Given the description of an element on the screen output the (x, y) to click on. 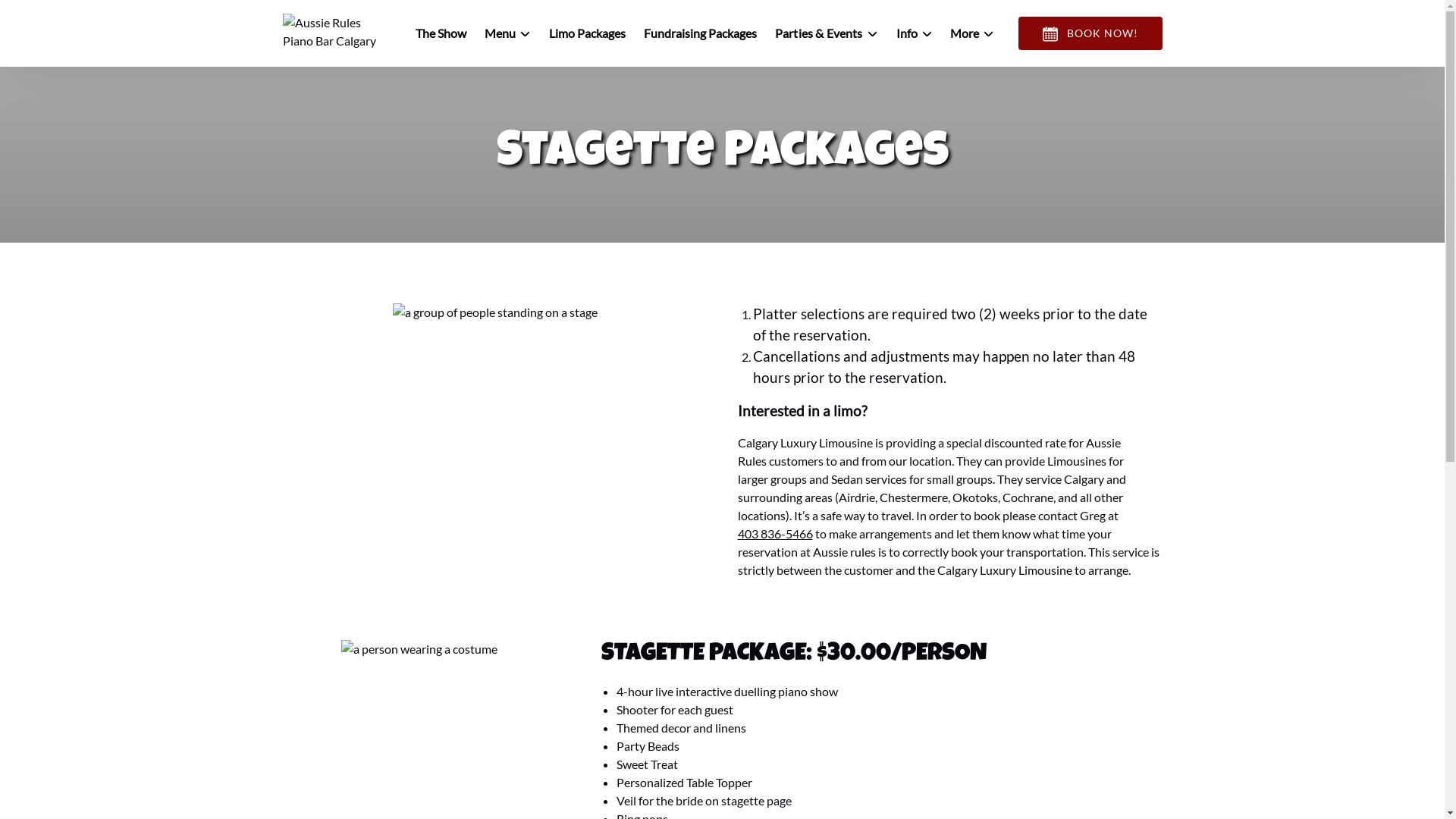
aussierules18 Element type: hover (494, 312)
Limo Packages Element type: text (586, 33)
The Show Element type: text (440, 33)
403 836-5466 Element type: text (774, 533)
Parties & Events Element type: text (826, 33)
Fundraising Packages Element type: text (699, 33)
Menu Element type: text (507, 33)
Skip to footer Element type: text (42, 16)
aussierules3 Element type: hover (419, 649)
Skip to primary navigation Element type: text (75, 16)
Info Element type: text (914, 33)
CALENDAR BOOK NOW! Element type: text (1089, 33)
More Element type: text (971, 33)
Skip to content Element type: text (46, 16)
